Given the description of an element on the screen output the (x, y) to click on. 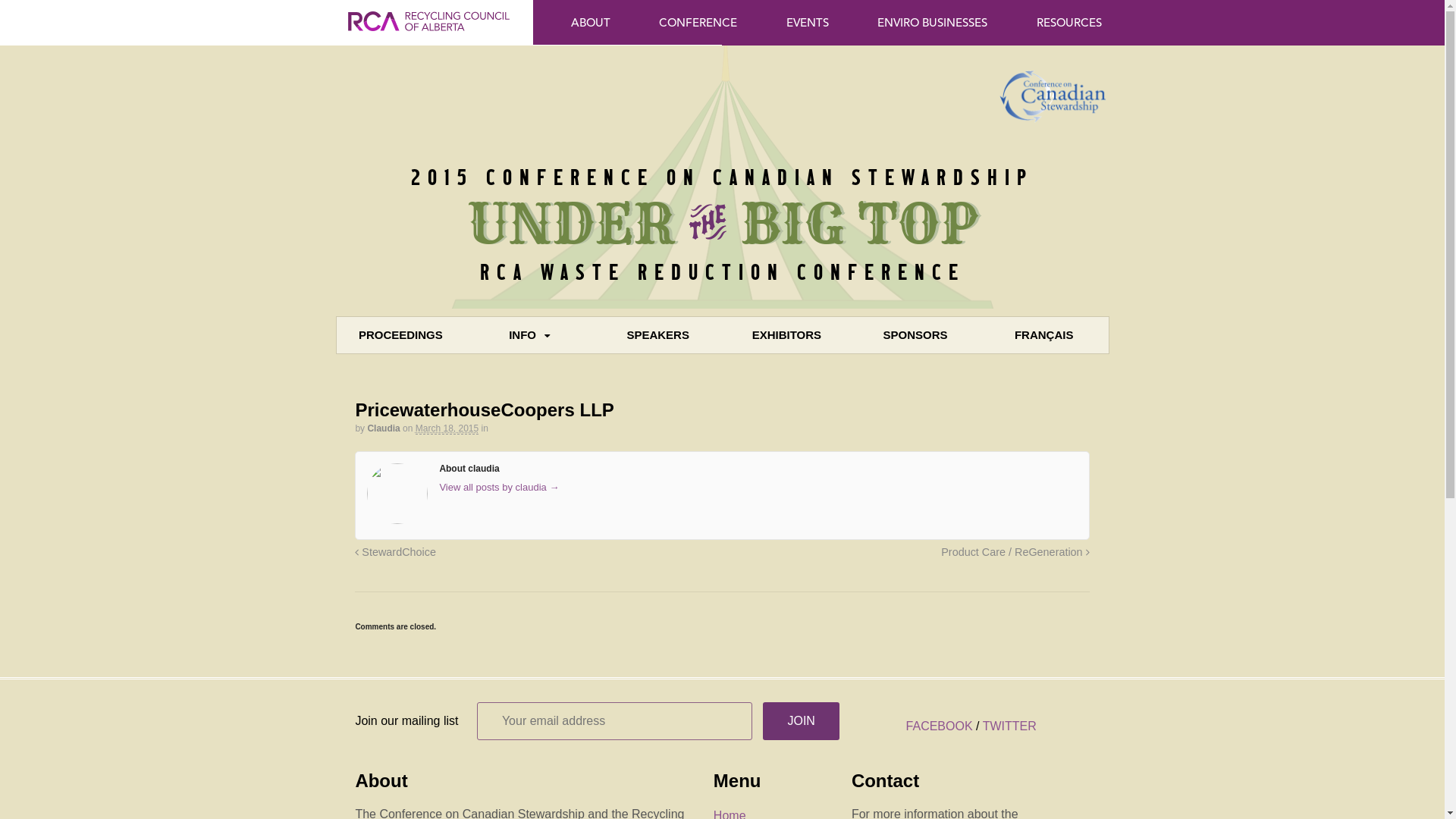
ABOUT Element type: text (590, 22)
TWITTER Element type: text (1009, 725)
ENVIRO BUSINESSES Element type: text (932, 22)
EXHIBITORS Element type: text (786, 334)
FACEBOOK Element type: text (939, 725)
2015 CONFERENCE ON CANADIAN STEWARDSHIP Element type: text (722, 175)
INFO Element type: text (528, 334)
RCA WASTE REDUCTION CONFERENCE Element type: text (721, 270)
UNDER THE BIG TOP Element type: text (722, 222)
EVENTS Element type: text (807, 22)
StewardChoice Element type: text (395, 552)
SPONSORS Element type: text (914, 334)
Recycling Council of Alberta Logo Element type: text (428, 36)
SPEAKERS Element type: text (657, 334)
Product Care / ReGeneration Element type: text (1014, 552)
Claudia Element type: text (383, 428)
Join Element type: text (800, 721)
PROCEEDINGS Element type: text (400, 334)
CONFERENCE Element type: text (697, 22)
RESOURCES Element type: text (1068, 22)
